Given the description of an element on the screen output the (x, y) to click on. 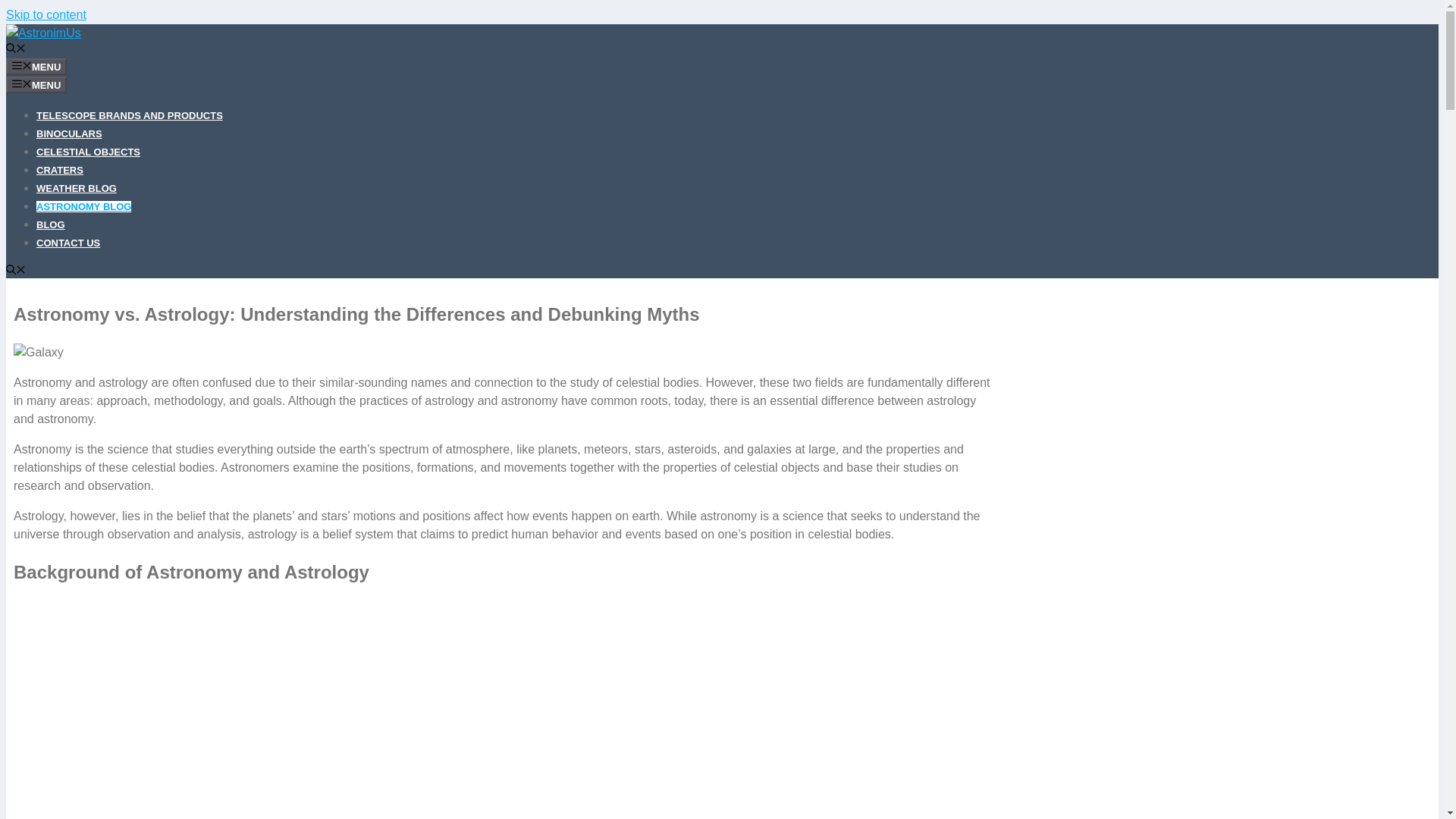
Skip to content (45, 14)
BINOCULARS (68, 132)
BLOG (50, 224)
WEATHER BLOG (76, 187)
CELESTIAL OBJECTS (87, 151)
Skip to content (45, 14)
CONTACT US (68, 242)
TELESCOPE BRANDS AND PRODUCTS (129, 114)
ASTRONOMY BLOG (83, 205)
MENU (35, 84)
MENU (35, 65)
CRATERS (59, 169)
